Given the description of an element on the screen output the (x, y) to click on. 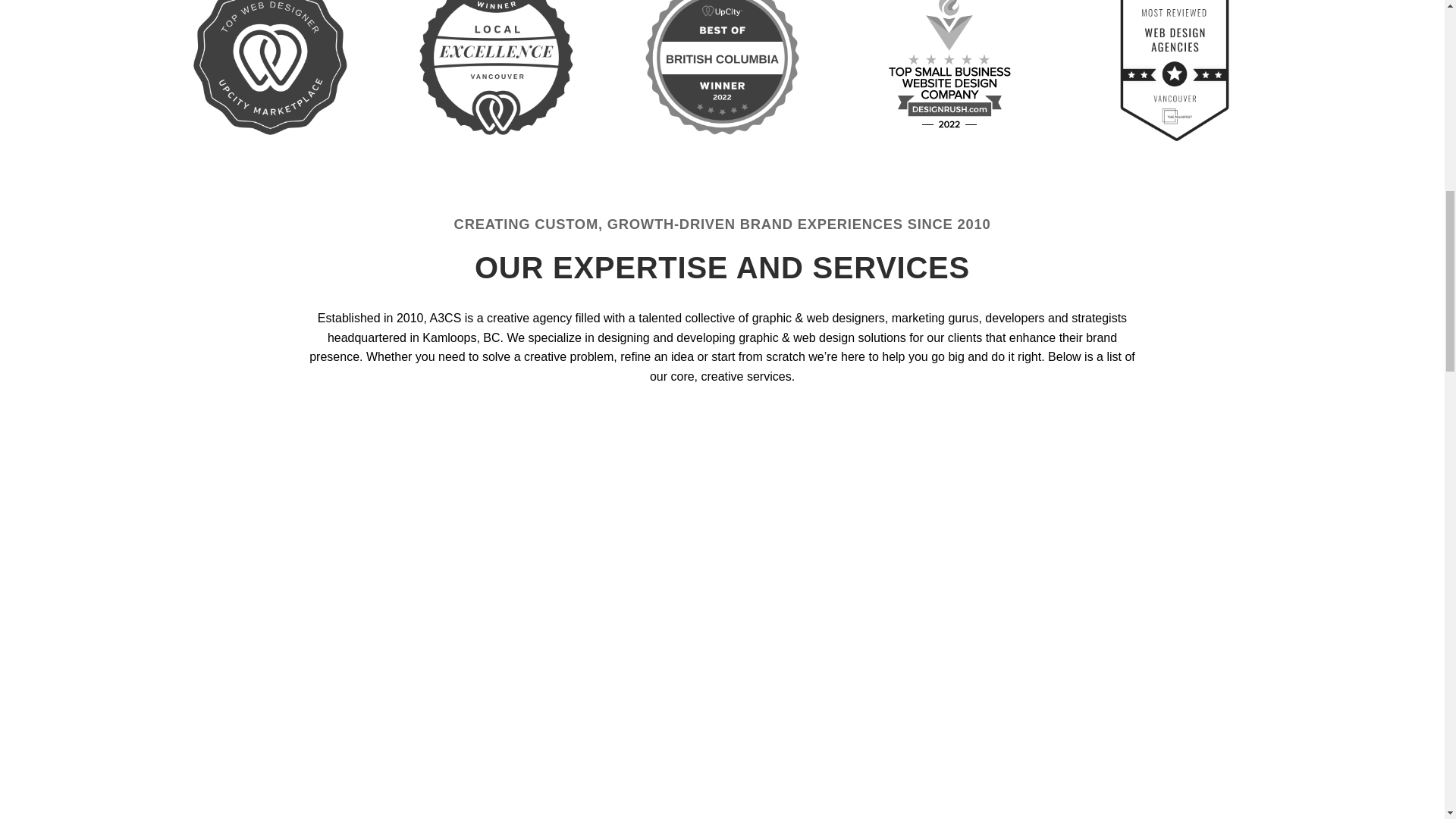
OUR EXPERTISE AND SERVICES (721, 267)
